Given the description of an element on the screen output the (x, y) to click on. 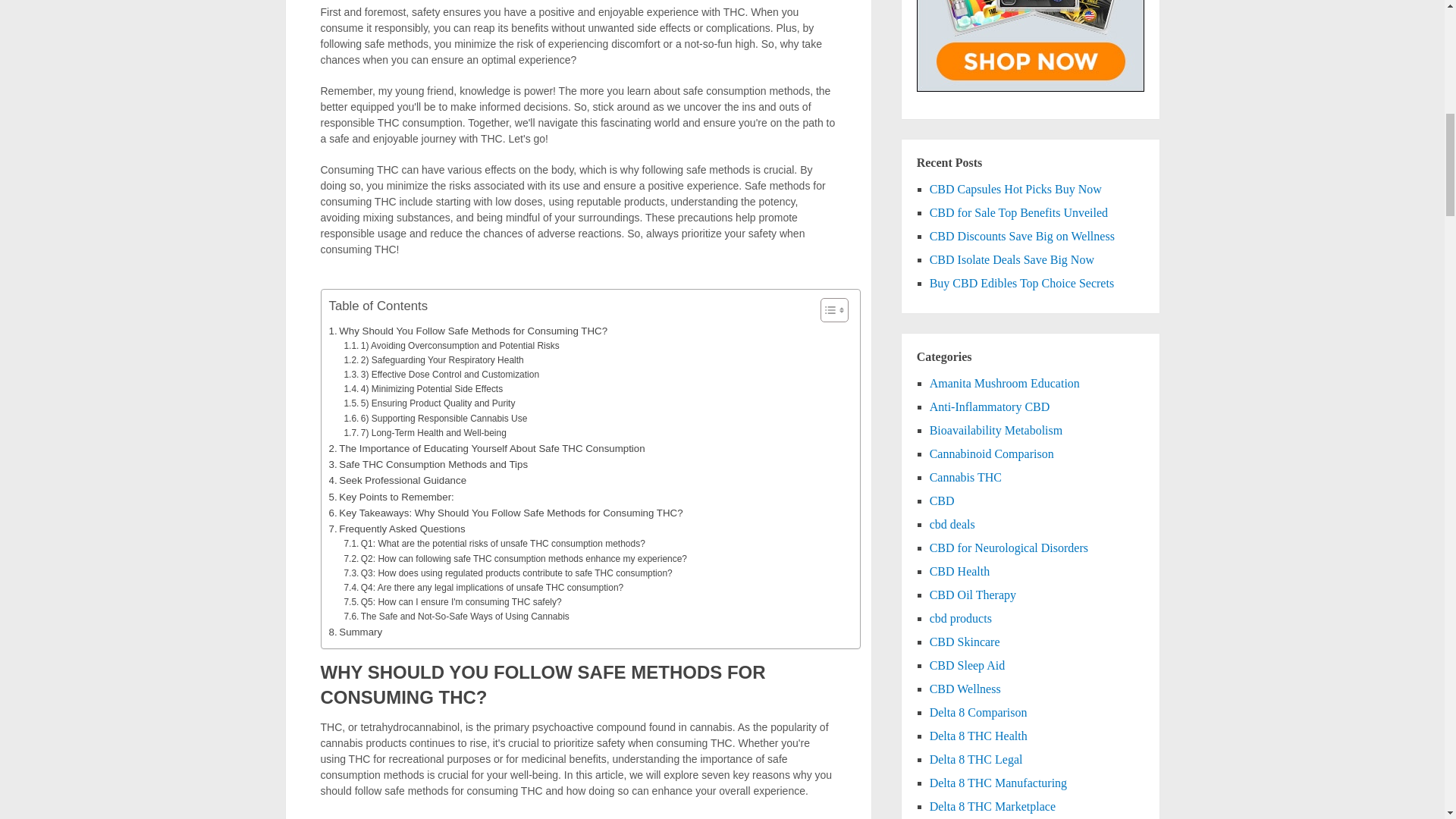
Frequently Asked Questions (397, 528)
Seek Professional Guidance (398, 480)
Safe THC Consumption Methods and Tips (428, 464)
Key Points to Remember: (391, 496)
Seek Professional Guidance (398, 480)
Why Should You Follow Safe Methods for Consuming THC? (468, 330)
Summary (355, 631)
Safe THC Consumption Methods and Tips (428, 464)
Why Should You Follow Safe Methods for Consuming THC? (468, 330)
